Given the description of an element on the screen output the (x, y) to click on. 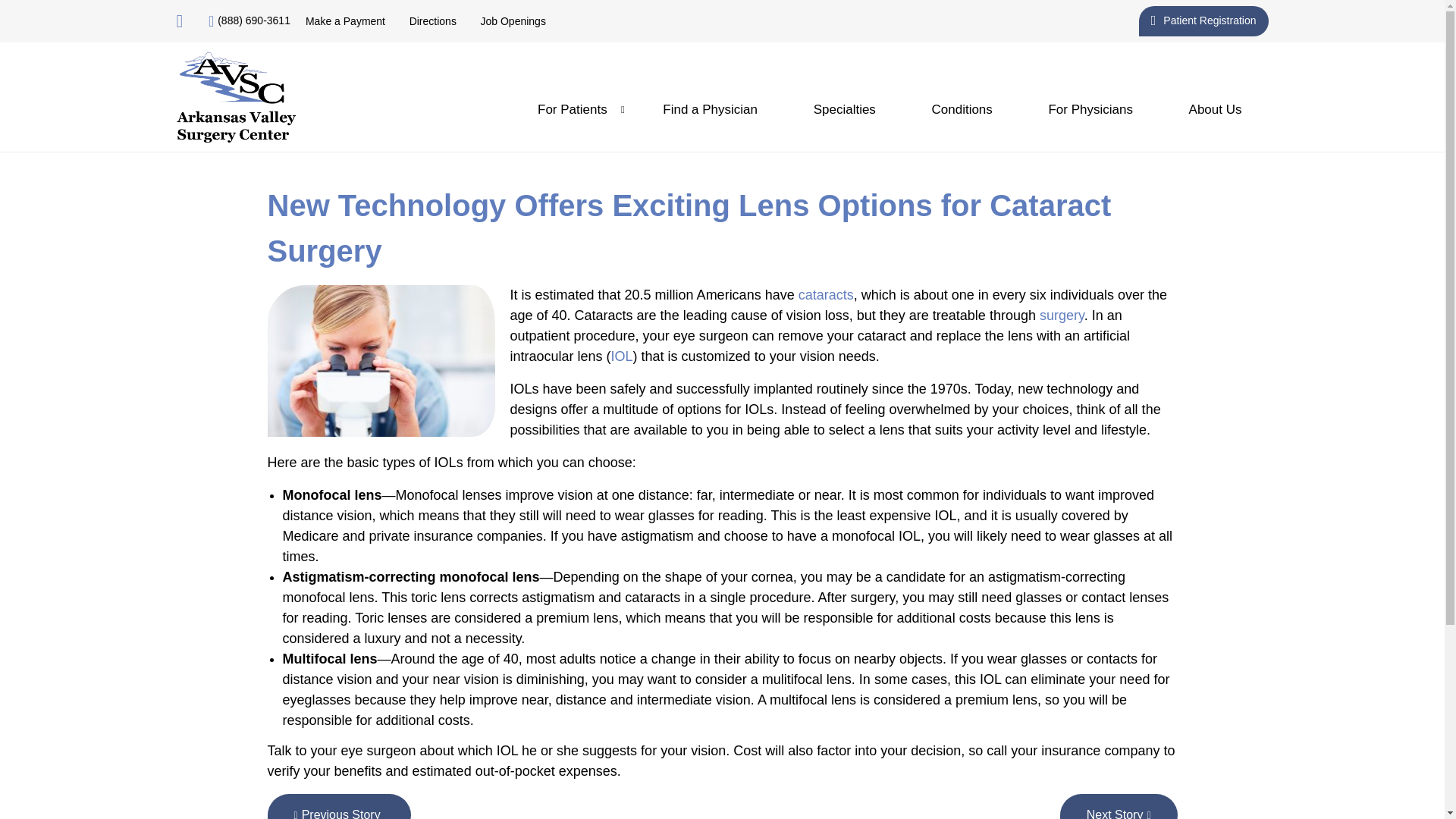
Patient Registration (1203, 20)
Conditions (961, 109)
About Us (1215, 109)
Arkansas Valley Surgery Center (235, 96)
Job Openings (513, 21)
Find a Physician (709, 109)
Make a Payment (345, 21)
For Physicians (1090, 109)
Specialties (844, 109)
For Patients (572, 109)
Directions (433, 21)
